Given the description of an element on the screen output the (x, y) to click on. 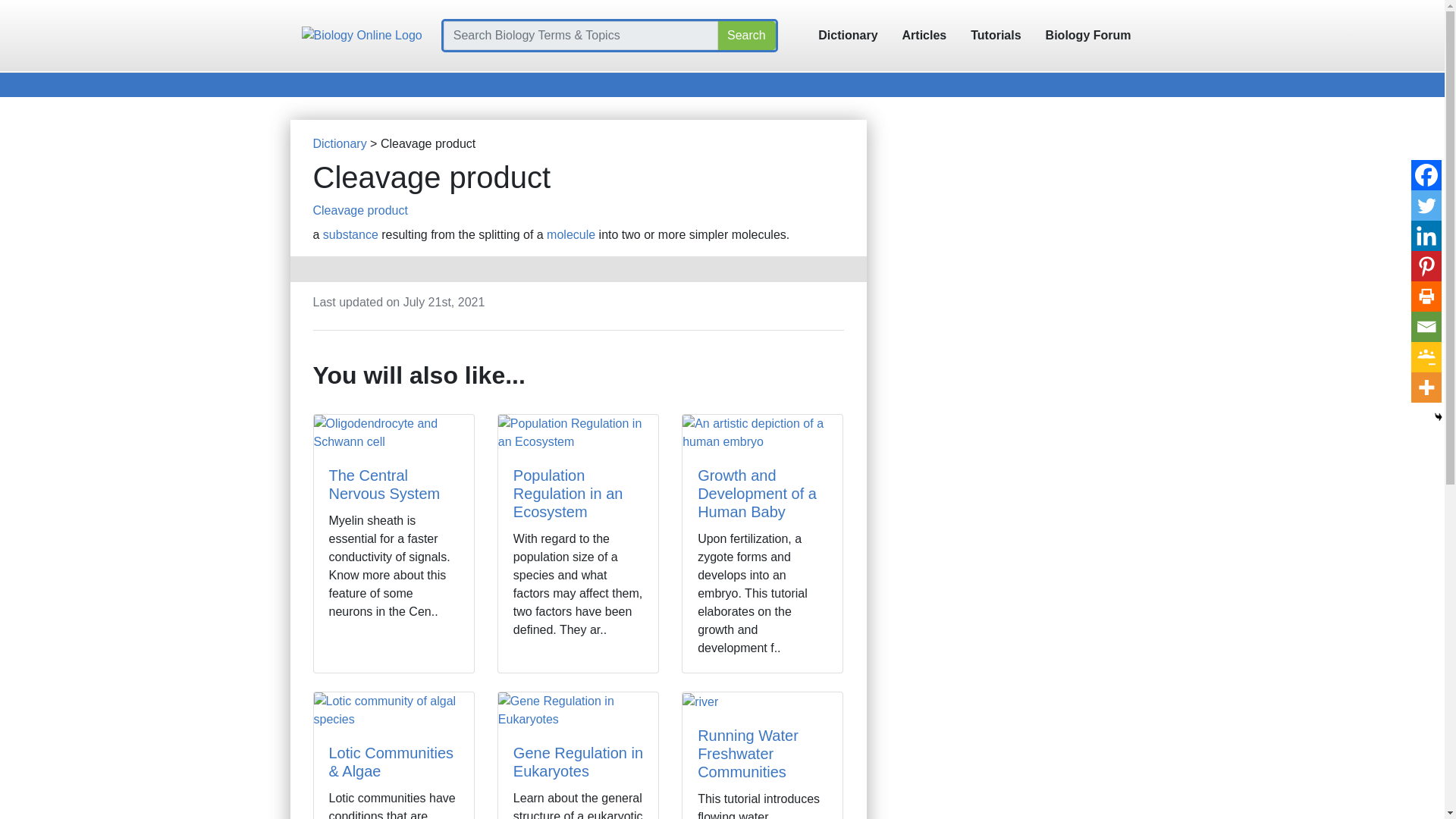
Biology Forum (1087, 35)
Dictionary (847, 35)
Print (1425, 296)
Pinterest (1425, 265)
Running Water Freshwater Communities (747, 753)
Population Regulation in an Ecosystem (568, 493)
Articles (924, 35)
Search (746, 35)
Biology Forum (1087, 35)
Gene Regulation in Eukaryotes (578, 761)
